Given the description of an element on the screen output the (x, y) to click on. 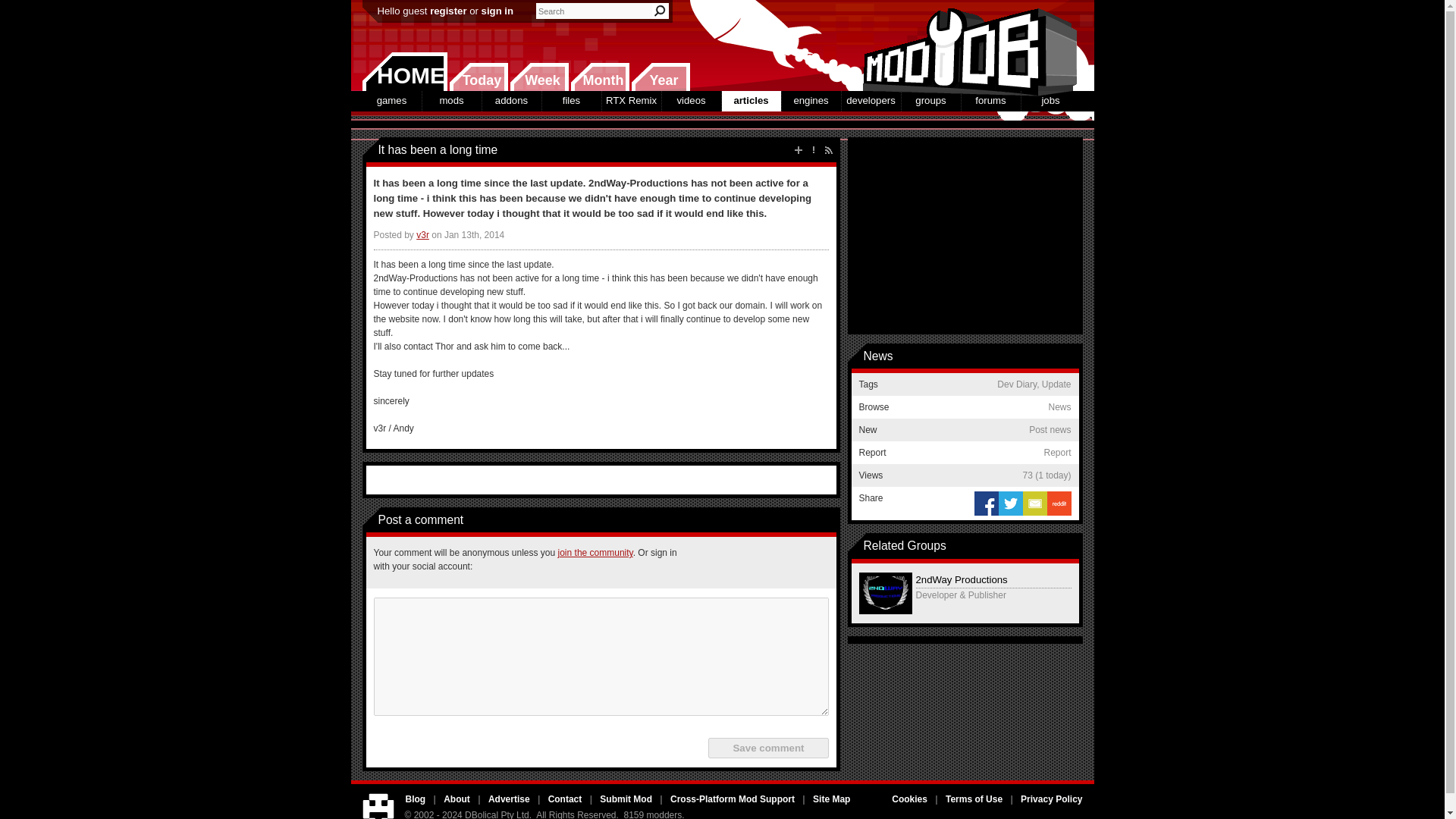
Search ModDB (660, 10)
mods (451, 100)
New this year (660, 76)
Report (813, 150)
It has been a long time Statistics (1046, 475)
games (392, 100)
Click to connect via Twitter (739, 562)
Today (478, 76)
register (447, 10)
Year (660, 76)
